Given the description of an element on the screen output the (x, y) to click on. 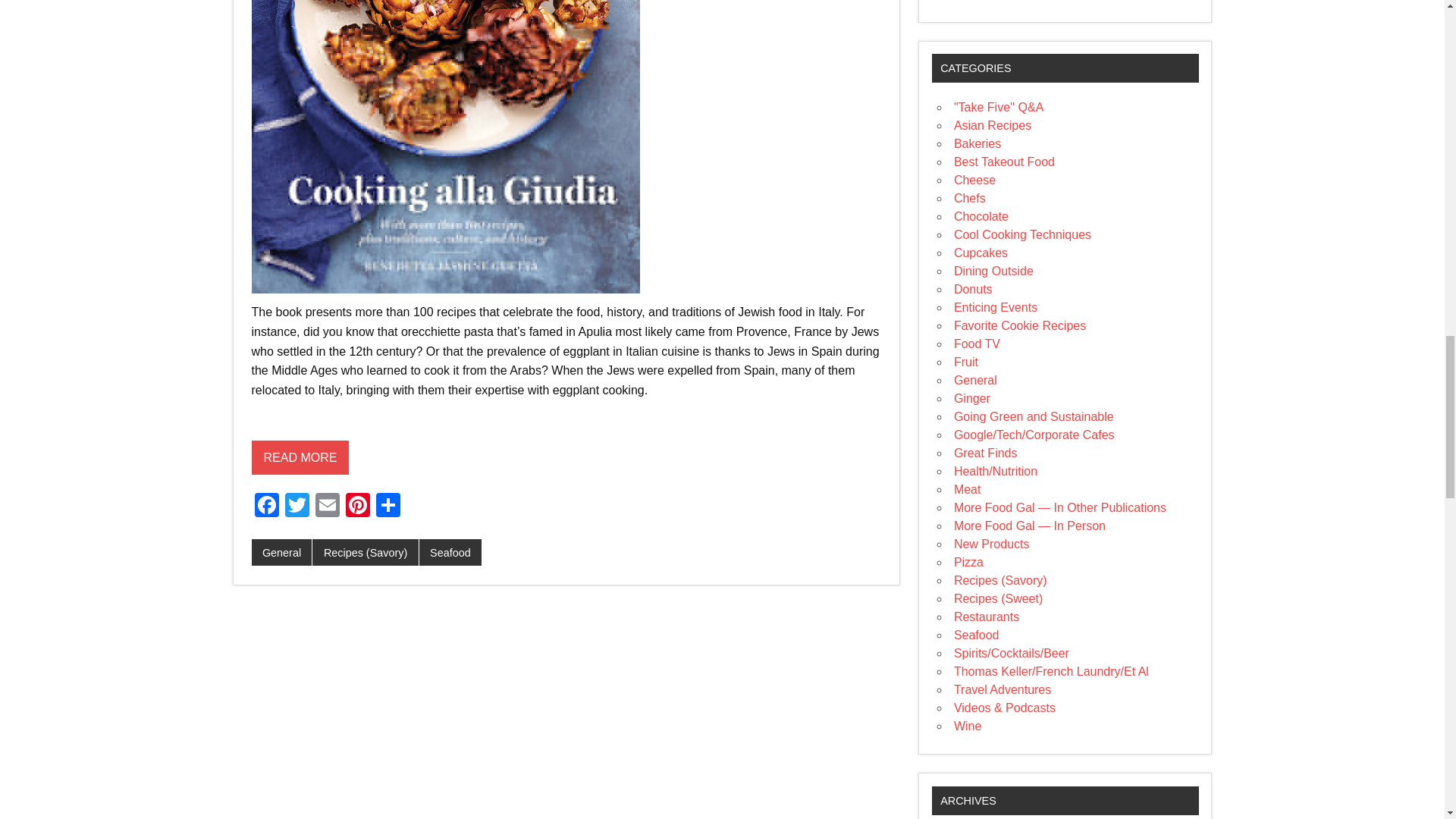
READ MORE (300, 476)
Cheese (974, 179)
Facebook (266, 506)
General (282, 552)
Twitter (297, 506)
Seafood (450, 552)
Chefs (969, 197)
Twitter (297, 506)
Best Takeout Food (1003, 161)
Pinterest (357, 506)
